Given the description of an element on the screen output the (x, y) to click on. 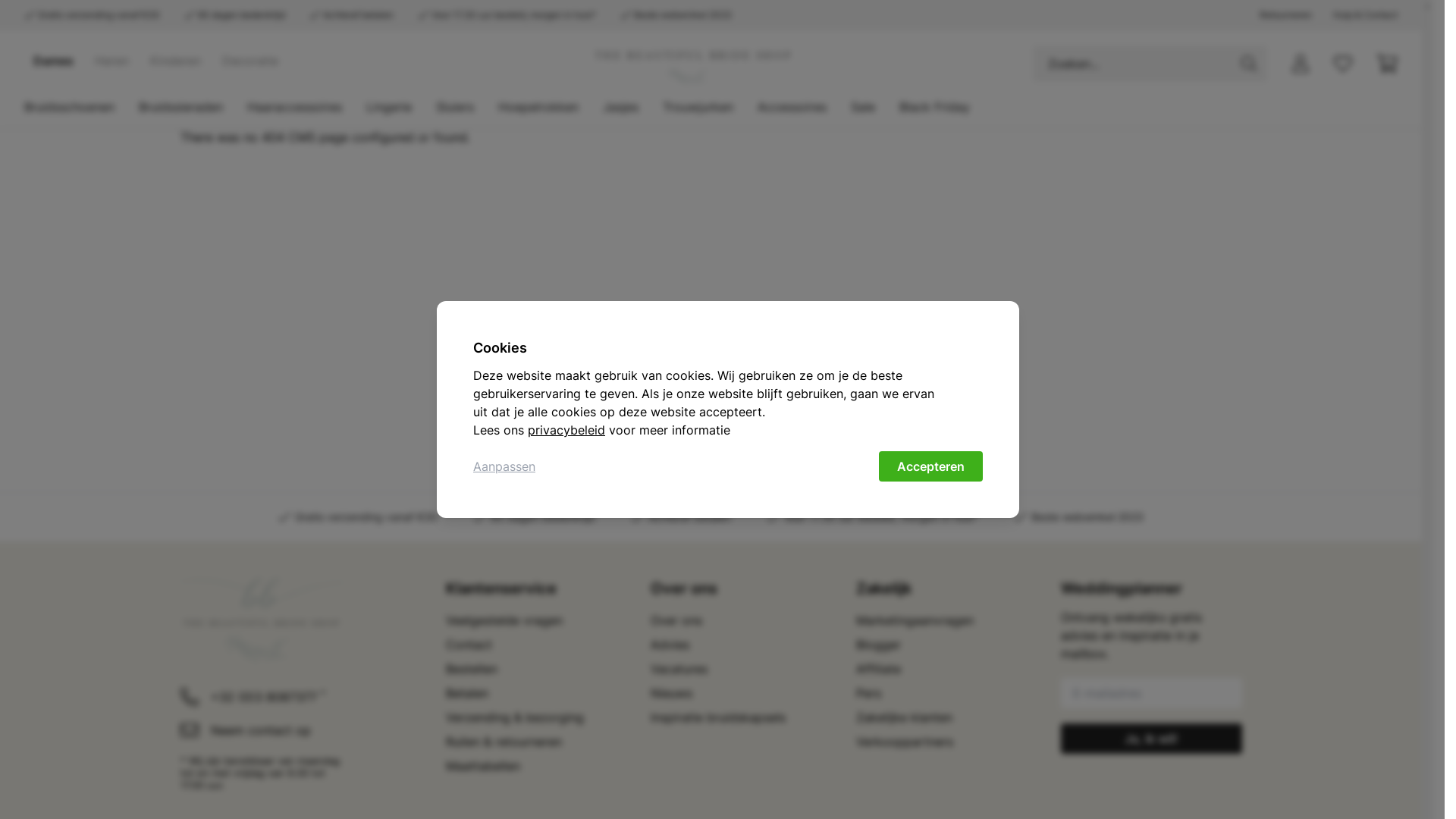
Kinderen Element type: text (175, 60)
Betalen Element type: text (466, 692)
Accessoires Element type: text (791, 106)
Ruilen & retourneren Element type: text (503, 741)
Jasjes Element type: text (620, 106)
Retourneren Element type: text (1285, 15)
Verkooppartners Element type: text (903, 741)
Bestellen Element type: text (471, 668)
Contact Element type: text (468, 644)
Vacatures Element type: text (678, 668)
Bruidssieraden Element type: text (180, 106)
Inspiratie bruidskapsels Element type: text (717, 716)
Sale Element type: text (862, 106)
Aanpassen Element type: text (504, 465)
Zoeken Element type: text (1248, 63)
+32 (0)3 8087377 * Element type: text (312, 696)
Lingerie Element type: text (388, 106)
Voor 17.30 uur besteld, morgen in huis* Element type: text (872, 517)
Marketingaanvragen Element type: text (913, 619)
Zakelijke klanten Element type: text (903, 716)
Dames Element type: text (53, 60)
Nieuws Element type: text (671, 692)
Heren Element type: text (111, 60)
Decoratie Element type: text (250, 60)
Hoepelrokken Element type: text (538, 106)
Advies Element type: text (669, 644)
Accepteren Element type: text (930, 466)
Maattabellen Element type: text (482, 765)
Verzending & bezorging Element type: text (514, 716)
Ja, ik wil! Element type: text (1151, 738)
Trouwjurken Element type: text (697, 106)
Voor 17.30 uur besteld, morgen in huis* Element type: text (506, 15)
Haaraccessoires Element type: text (294, 106)
Beste webwinkel 2023 Element type: text (1078, 517)
Blogger Element type: text (877, 644)
Affiliate Element type: text (877, 668)
Pers Element type: text (867, 692)
Veelgestelde vragen Element type: text (503, 619)
Hulp & Contact Element type: text (1365, 15)
Neem contact op Element type: text (312, 730)
privacybeleid Element type: text (566, 429)
Black Friday Element type: text (934, 106)
Beste webwinkel 2023 Element type: text (675, 15)
Over ons Element type: text (676, 619)
Bruidsschoenen Element type: text (69, 106)
Winkelwagen Element type: text (1386, 63)
Sluiers Element type: text (454, 106)
